Given the description of an element on the screen output the (x, y) to click on. 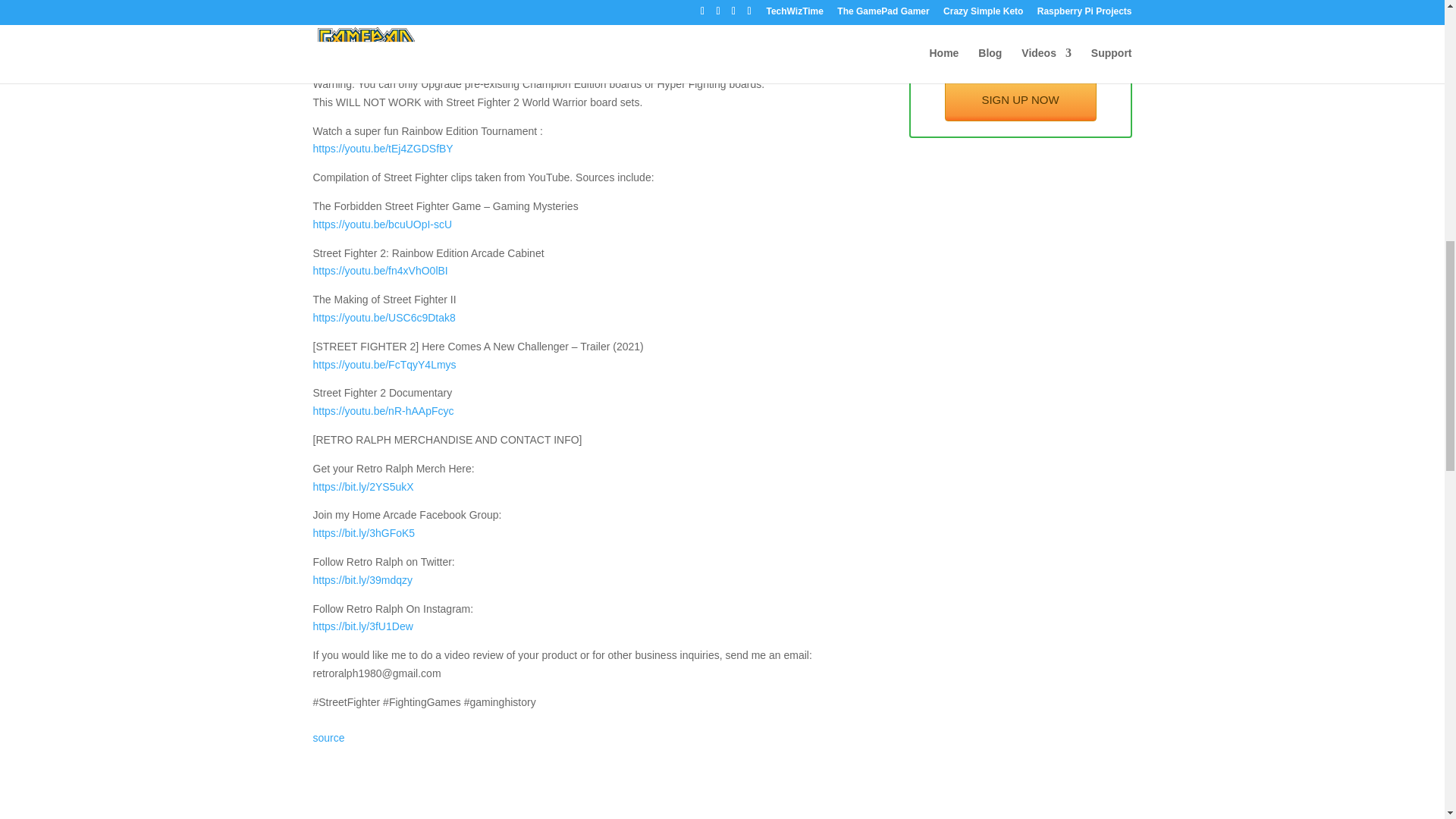
source (328, 737)
